Given the description of an element on the screen output the (x, y) to click on. 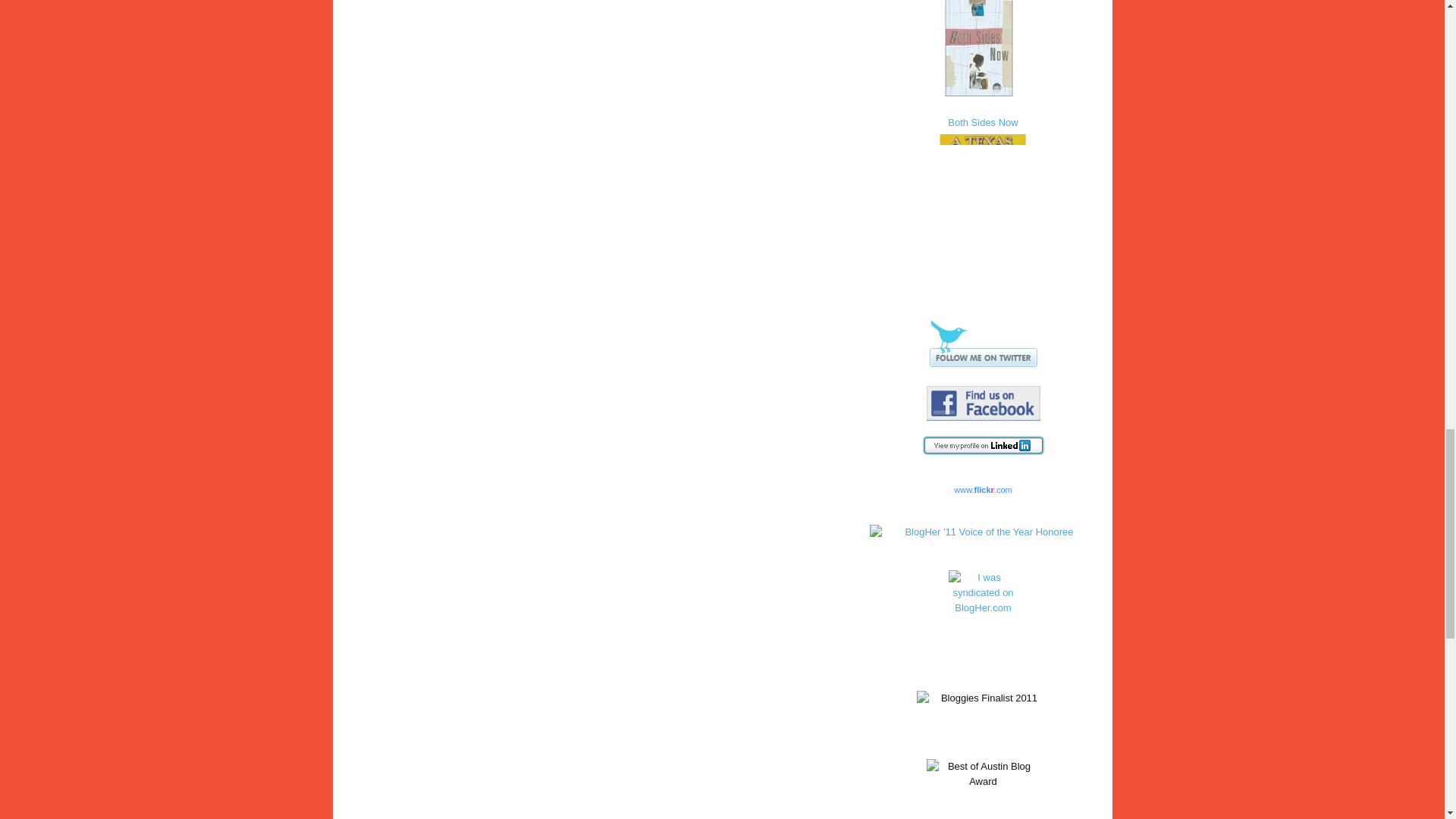
Bloggies Finalist 2011 (982, 721)
Both Sides Now (982, 49)
Follow Me on Twitter (983, 343)
www.flickr.com (982, 489)
Facebook (983, 402)
Best of Austin Blog Award (982, 787)
Texas Family Time Capsule (982, 200)
LinkedIn (982, 445)
Both Sides Now (982, 63)
